Given the description of an element on the screen output the (x, y) to click on. 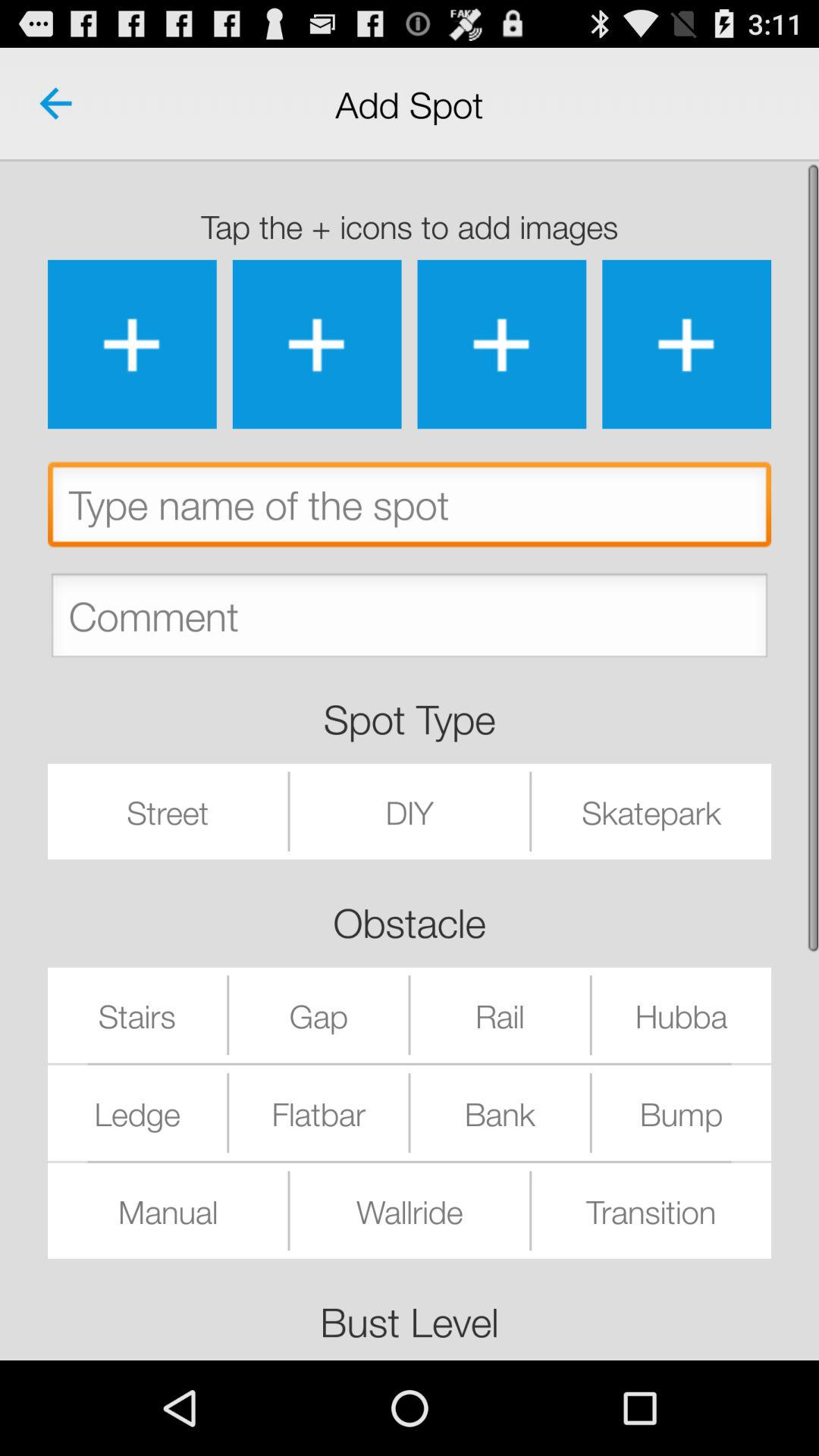
select stairs icon (136, 1014)
